Given the description of an element on the screen output the (x, y) to click on. 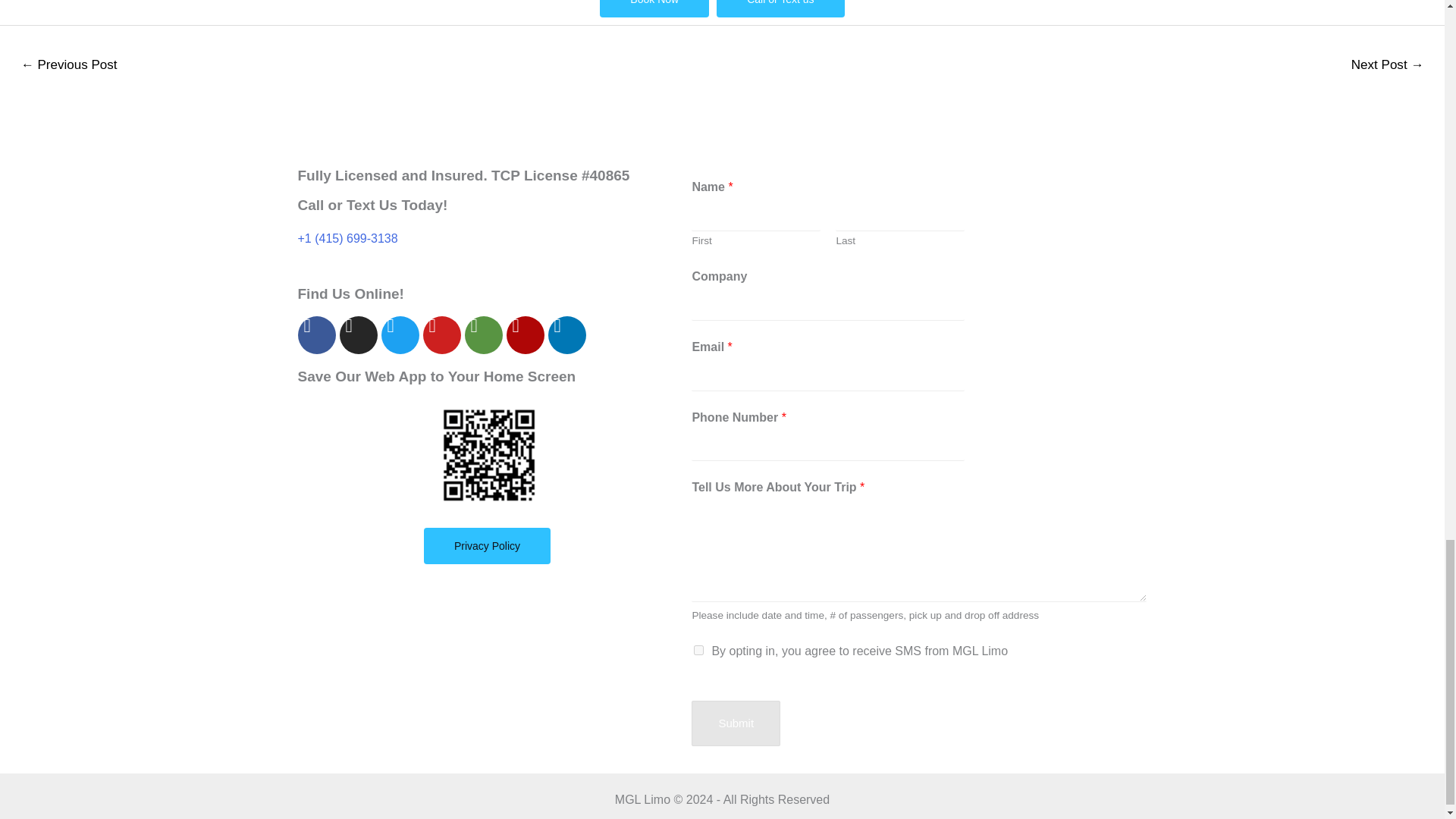
Book Now (654, 8)
Call or Text us (780, 8)
